Given the description of an element on the screen output the (x, y) to click on. 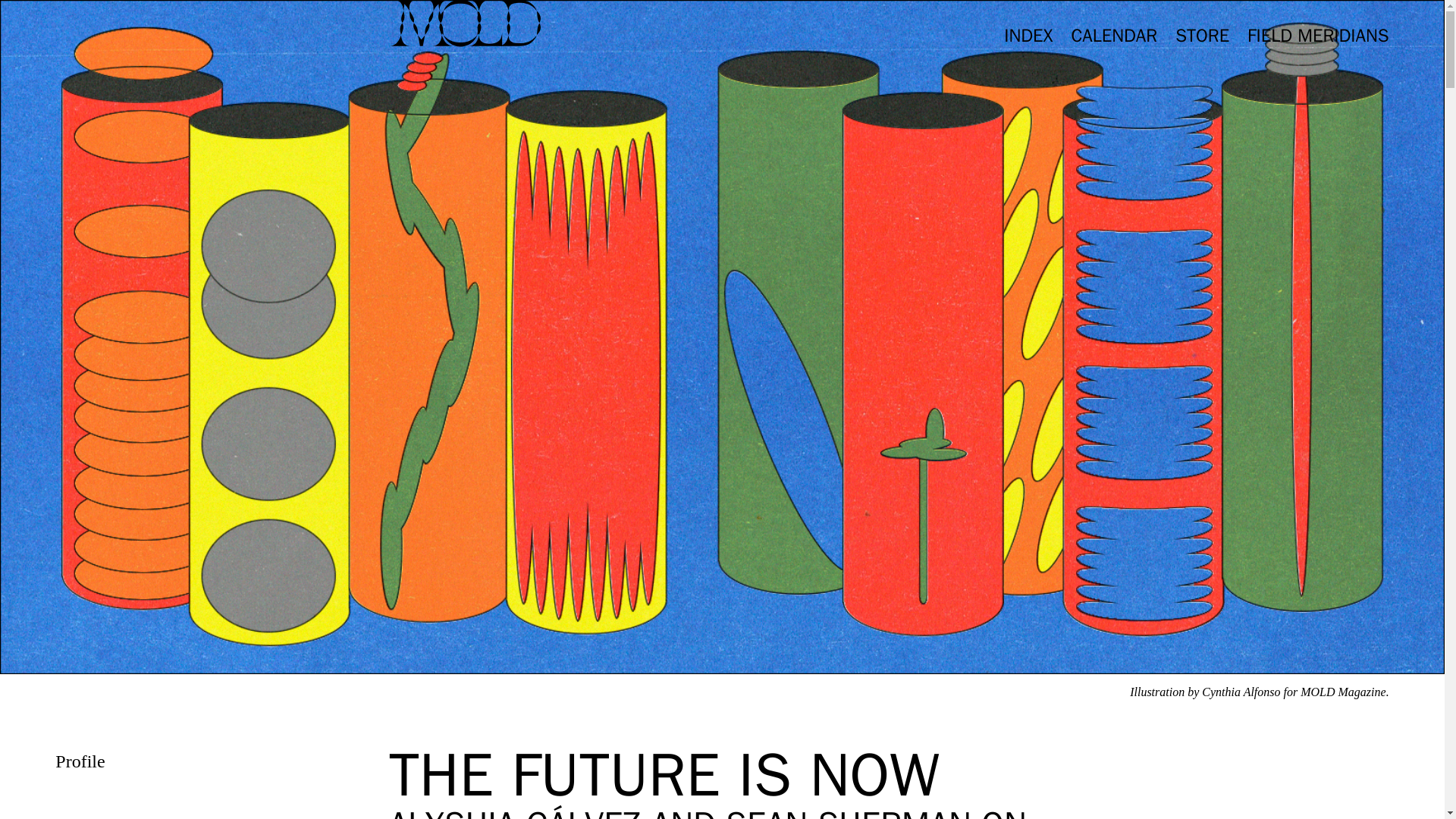
Home page (464, 23)
CALENDAR (1113, 35)
INDEX (1028, 35)
FIELD MERIDIANS (1318, 35)
STORE (1201, 35)
